Given the description of an element on the screen output the (x, y) to click on. 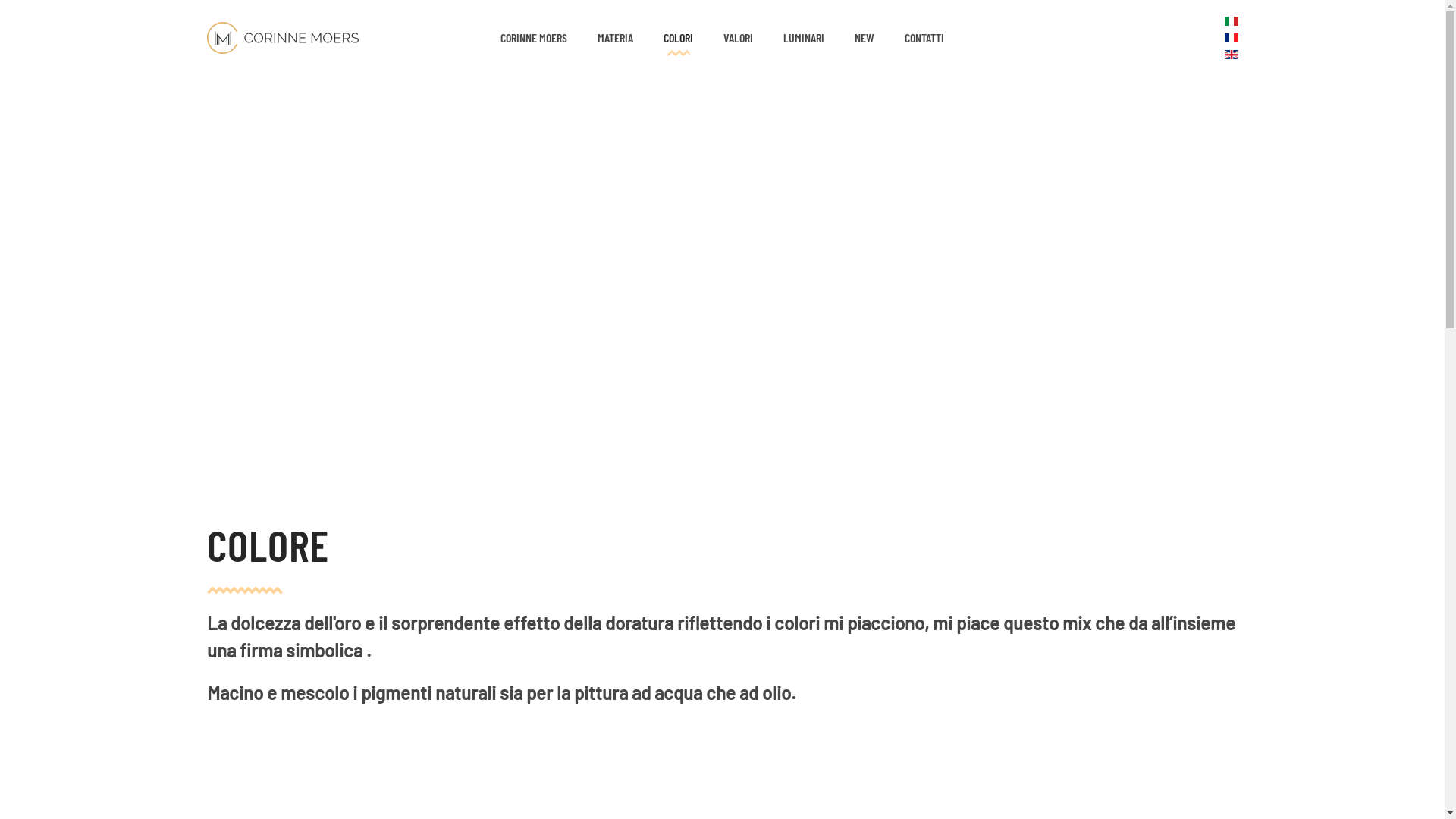
MATERIA Element type: text (615, 37)
IT Element type: hover (1230, 20)
English (United Kingdom) Element type: hover (1230, 54)
NEW Element type: text (864, 37)
FR Element type: hover (1230, 37)
CORINNE MOERS Element type: text (533, 37)
LUMINARI Element type: text (803, 37)
CONTATTI Element type: text (924, 37)
VALORI Element type: text (738, 37)
COLORI Element type: text (678, 37)
